Given the description of an element on the screen output the (x, y) to click on. 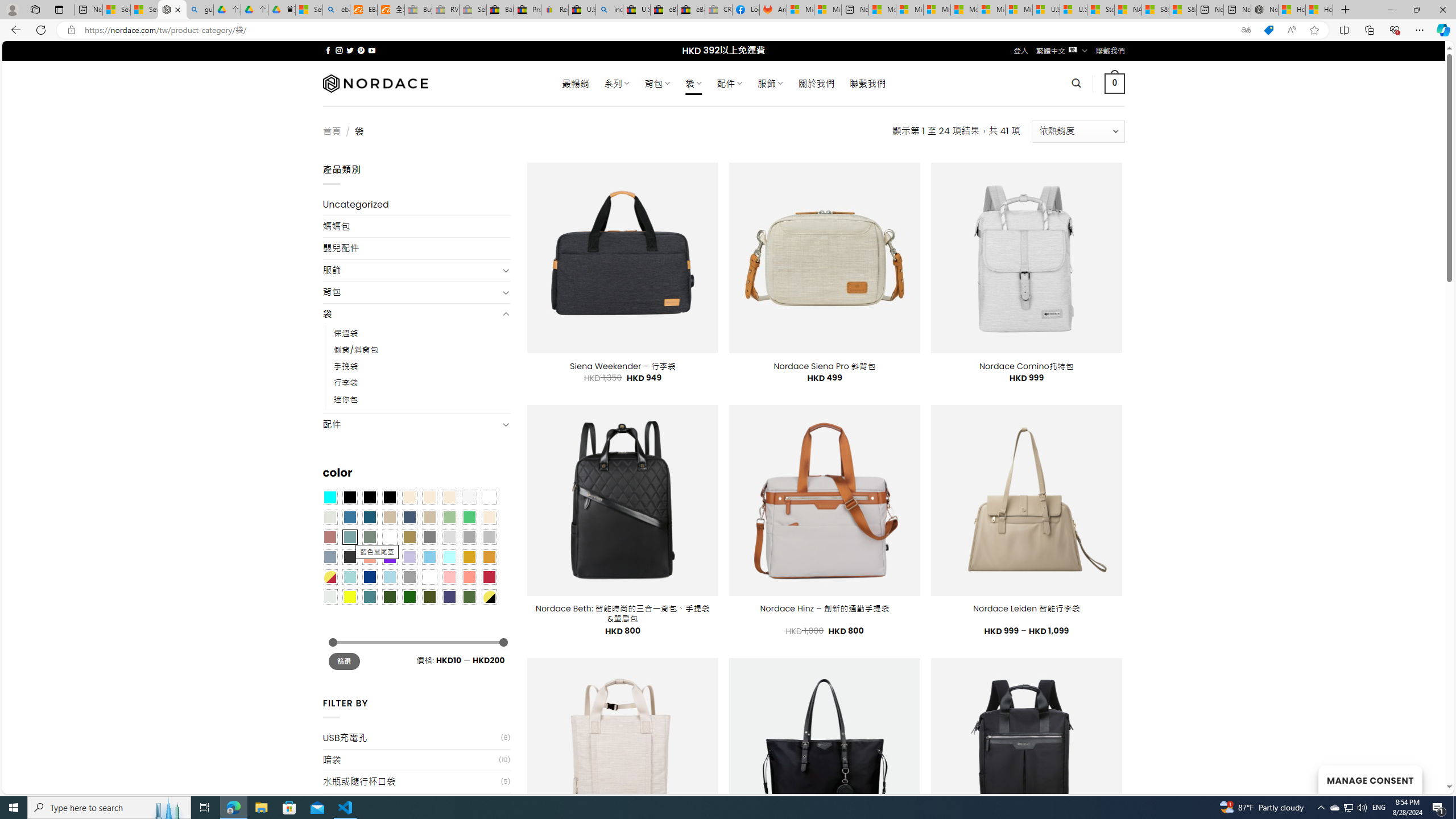
Cream (449, 497)
guge yunpan - Search (200, 9)
Microsoft account | Privacy (909, 9)
Follow on YouTube (371, 50)
Close (1442, 9)
Workspaces (34, 9)
